Given the description of an element on the screen output the (x, y) to click on. 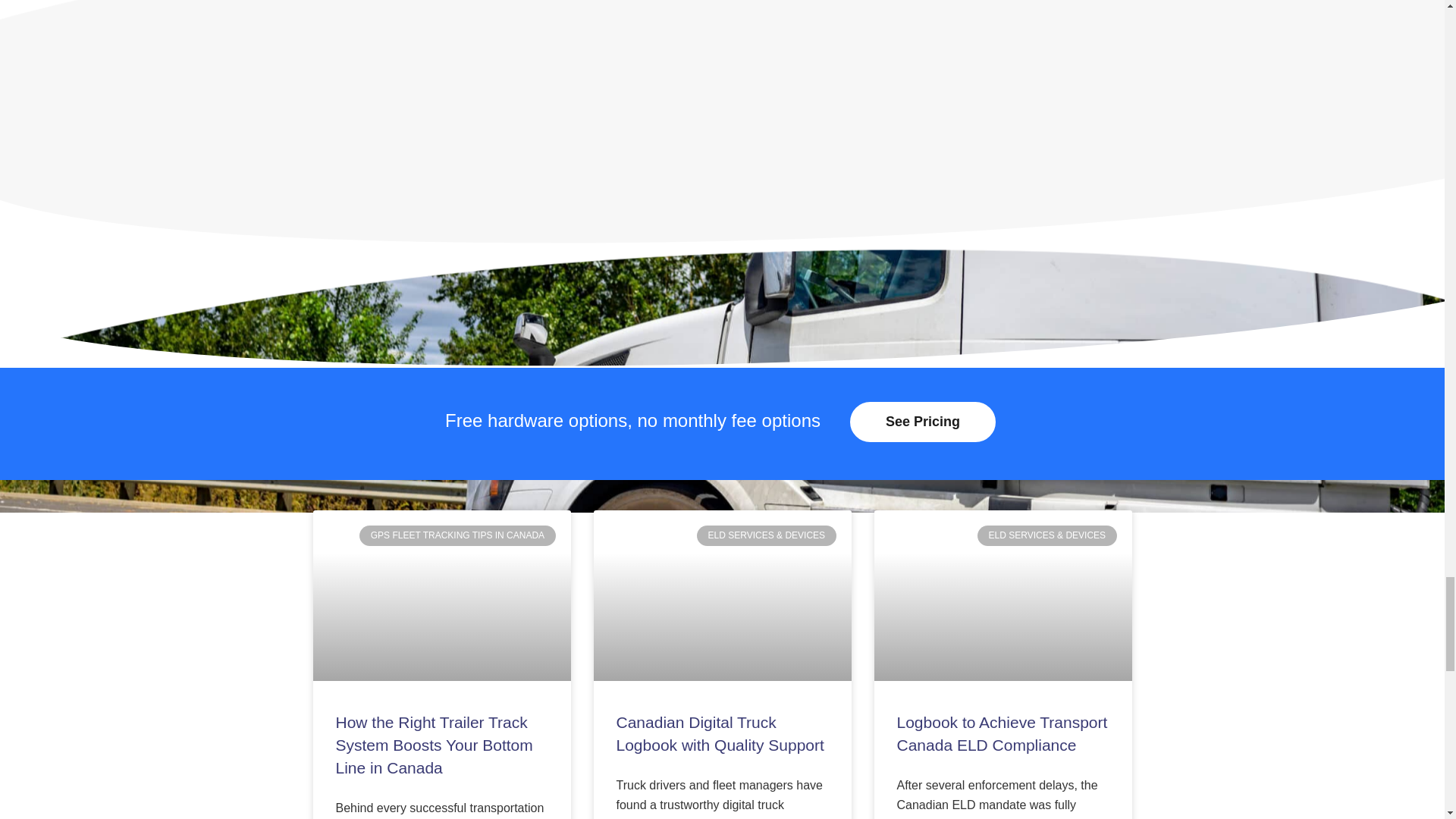
See Pricing (922, 422)
